Given the description of an element on the screen output the (x, y) to click on. 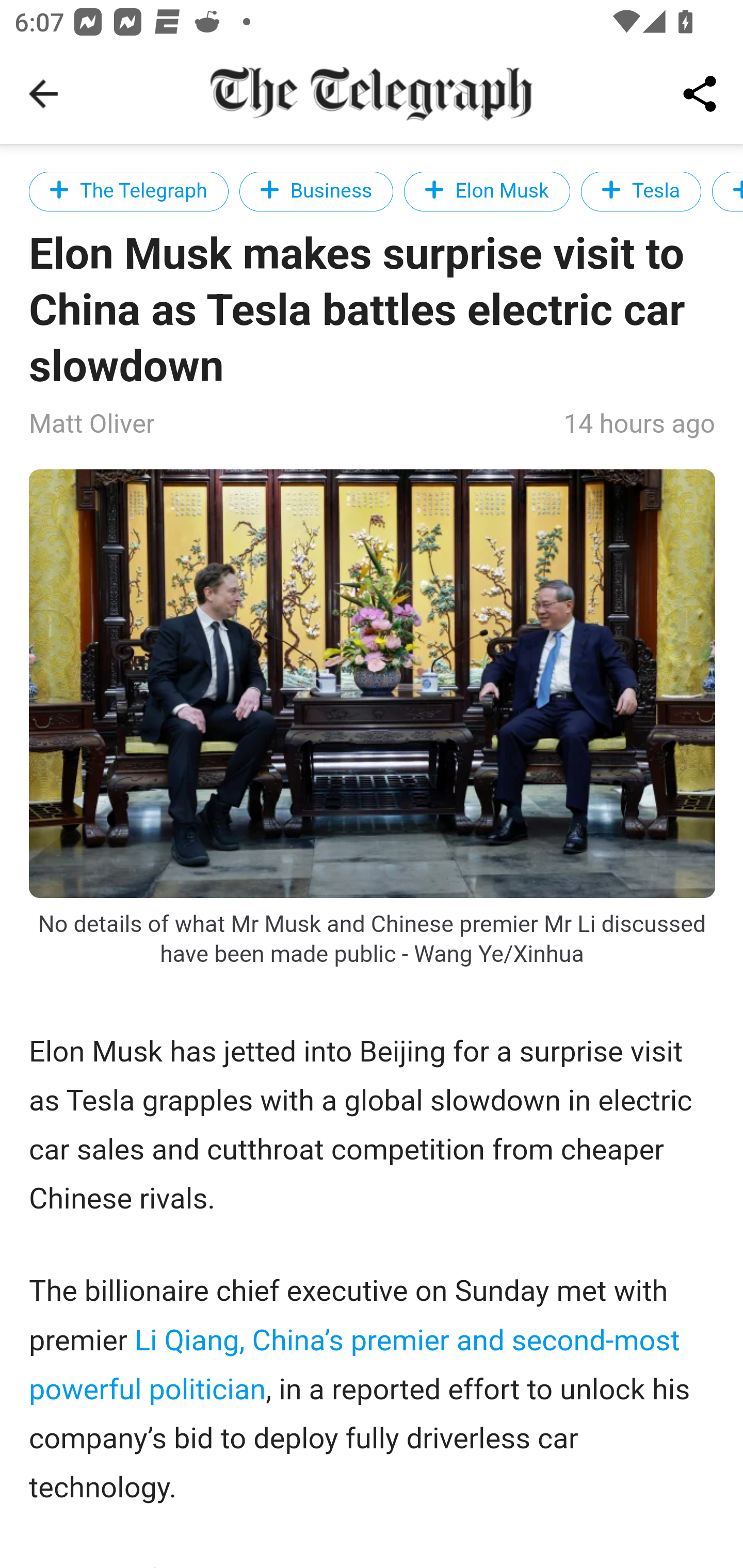
The Telegraph (128, 191)
Business (316, 191)
Elon Musk (486, 191)
Tesla (640, 191)
China (727, 191)
